Given the description of an element on the screen output the (x, y) to click on. 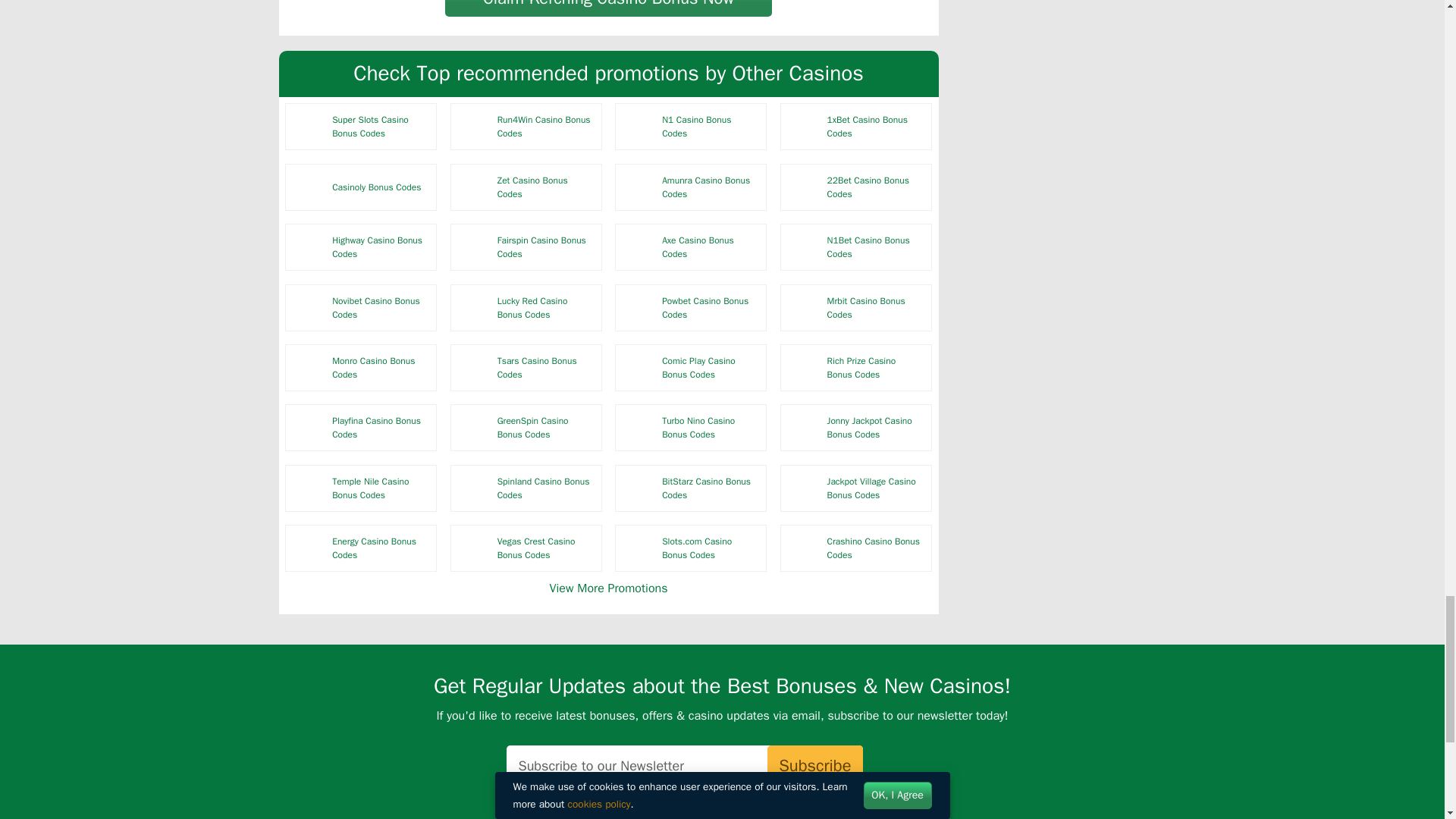
N1 Casino (639, 126)
1xBet Casino (803, 126)
Amunra Casino (639, 187)
Highway Casino (308, 247)
Zet Casino (473, 187)
Run4Win Casino (473, 126)
22Bet Casino (803, 187)
Super Slots Casino (308, 126)
Casinoly (308, 187)
